Given the description of an element on the screen output the (x, y) to click on. 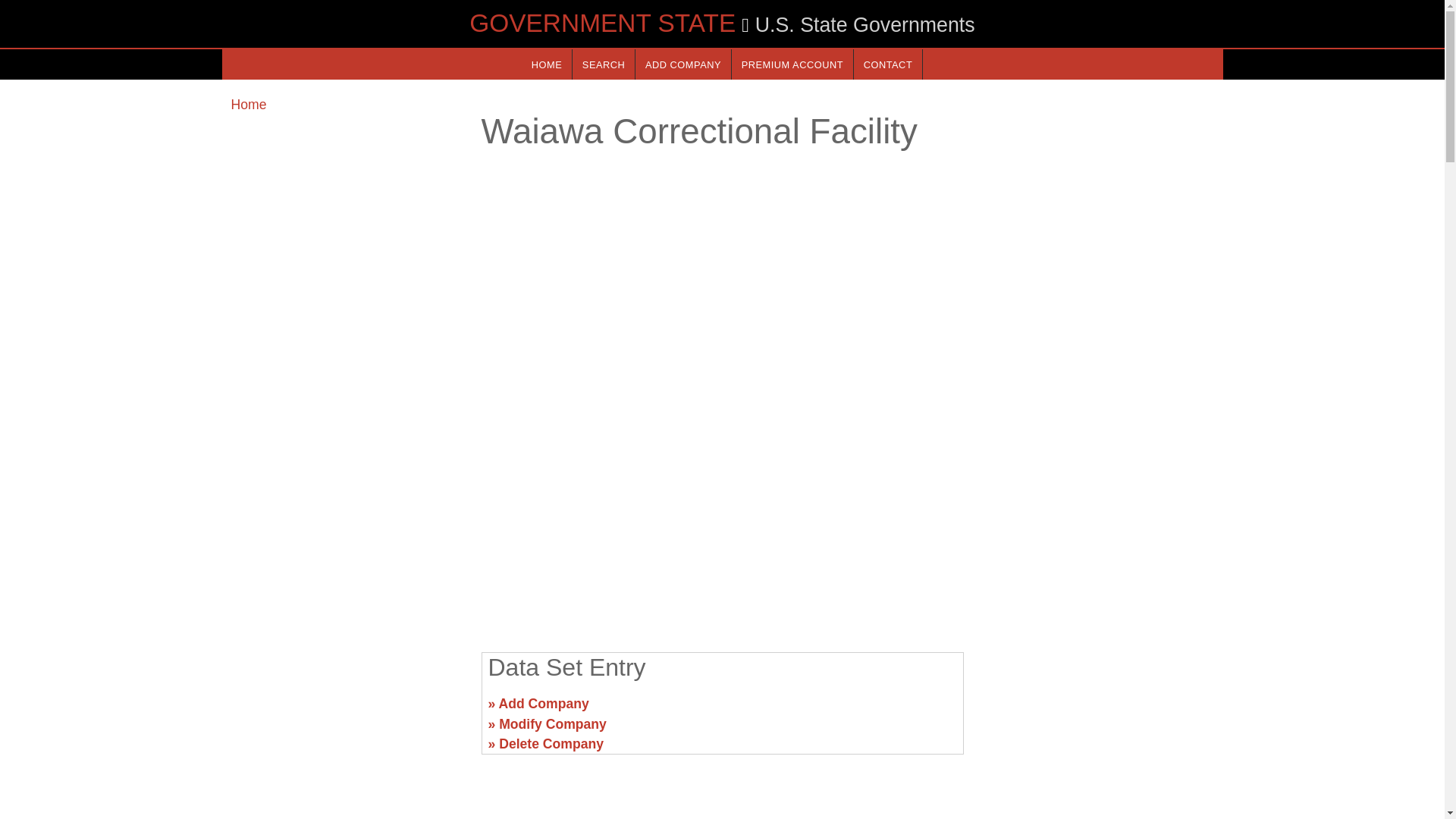
CONTACT (887, 64)
SEARCH (603, 64)
ADD COMPANY (682, 64)
Premium account (792, 64)
Advertisement (1096, 710)
GOVERNMENT STATE (601, 22)
Advertisement (346, 710)
HOME (546, 64)
Search in this webseite. (603, 64)
